Given the description of an element on the screen output the (x, y) to click on. 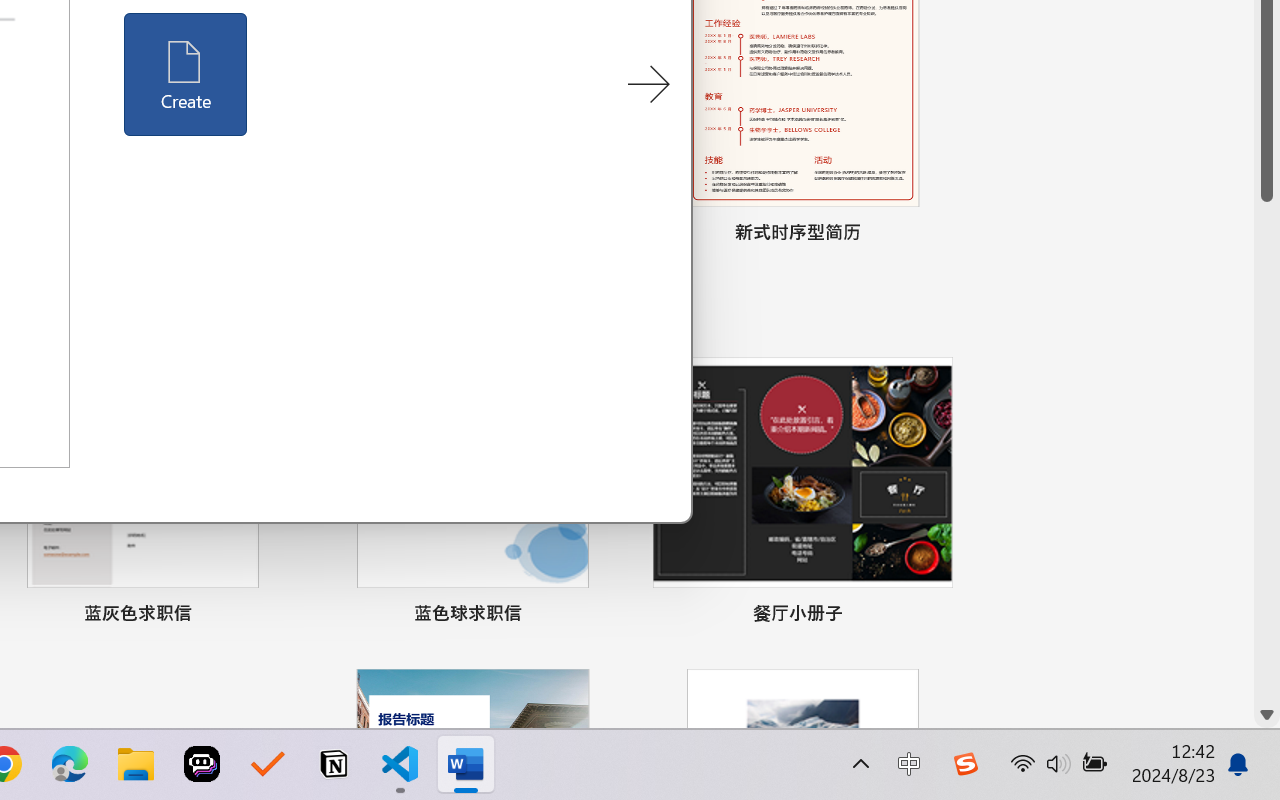
Line down (1267, 715)
Page down (1267, 451)
Create (185, 74)
Next Template (648, 85)
Pin to list (934, 616)
